Given the description of an element on the screen output the (x, y) to click on. 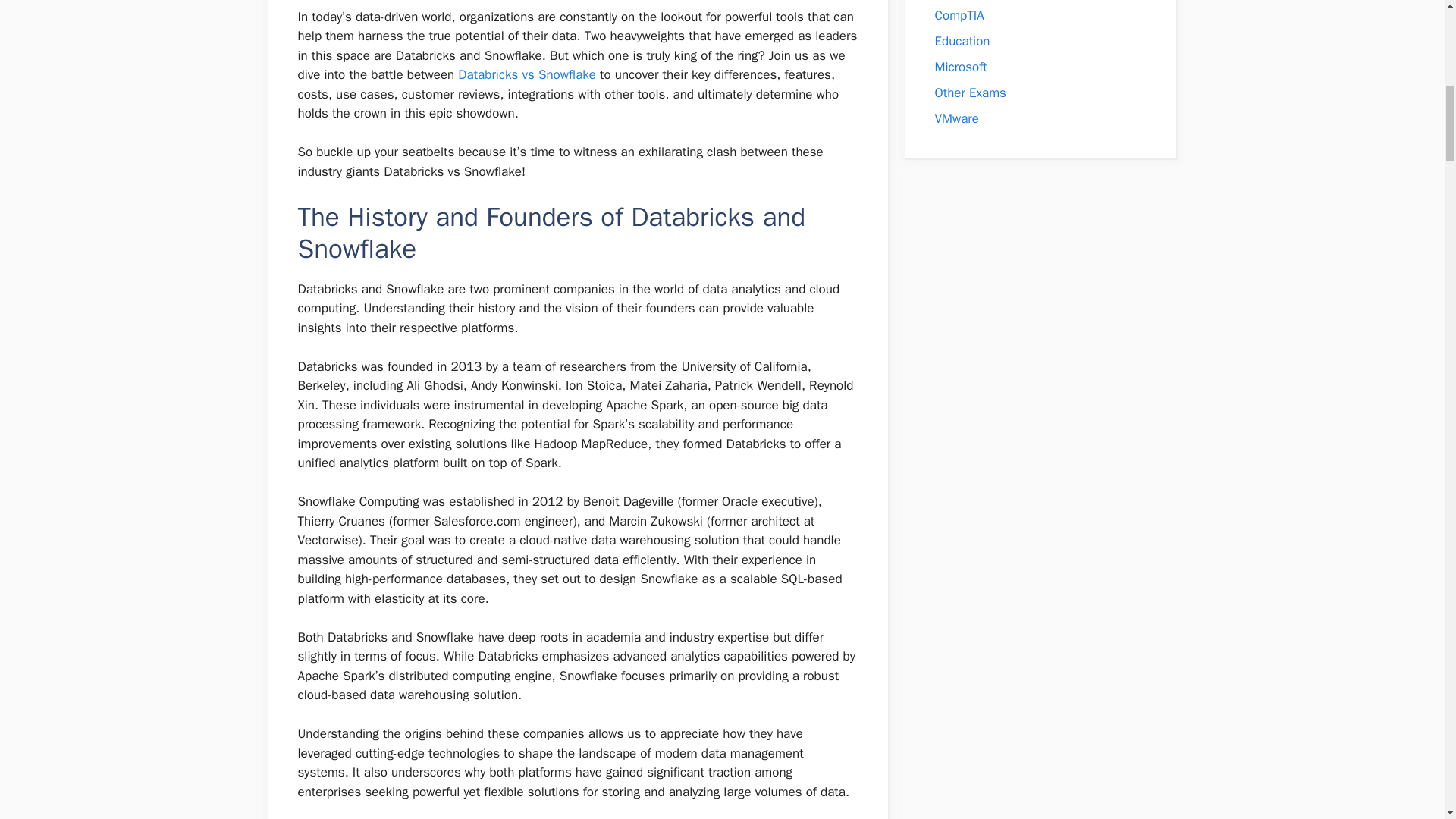
Databricks vs Snowflake (526, 74)
